Given the description of an element on the screen output the (x, y) to click on. 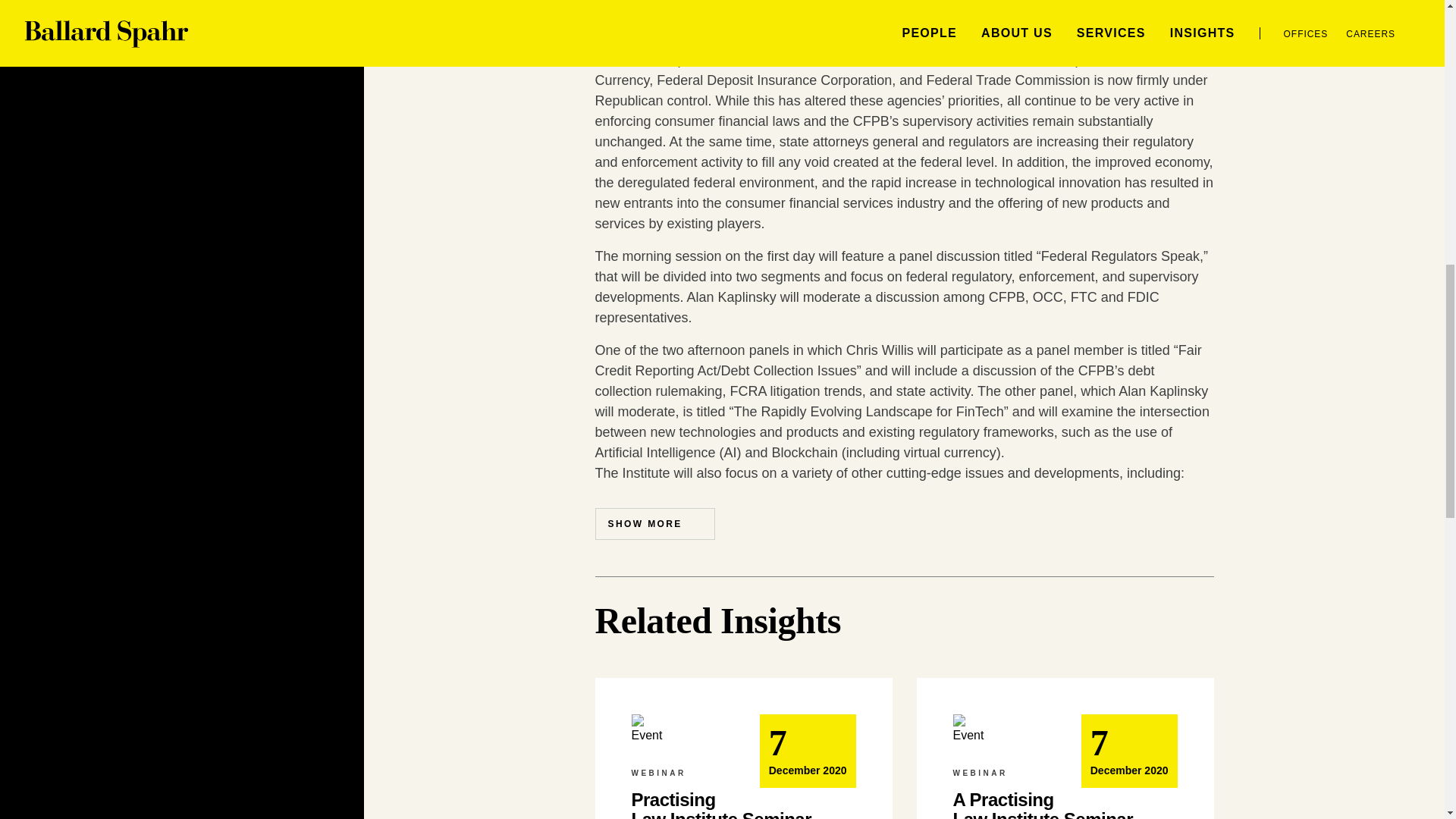
SHOW MORE (654, 523)
